Given the description of an element on the screen output the (x, y) to click on. 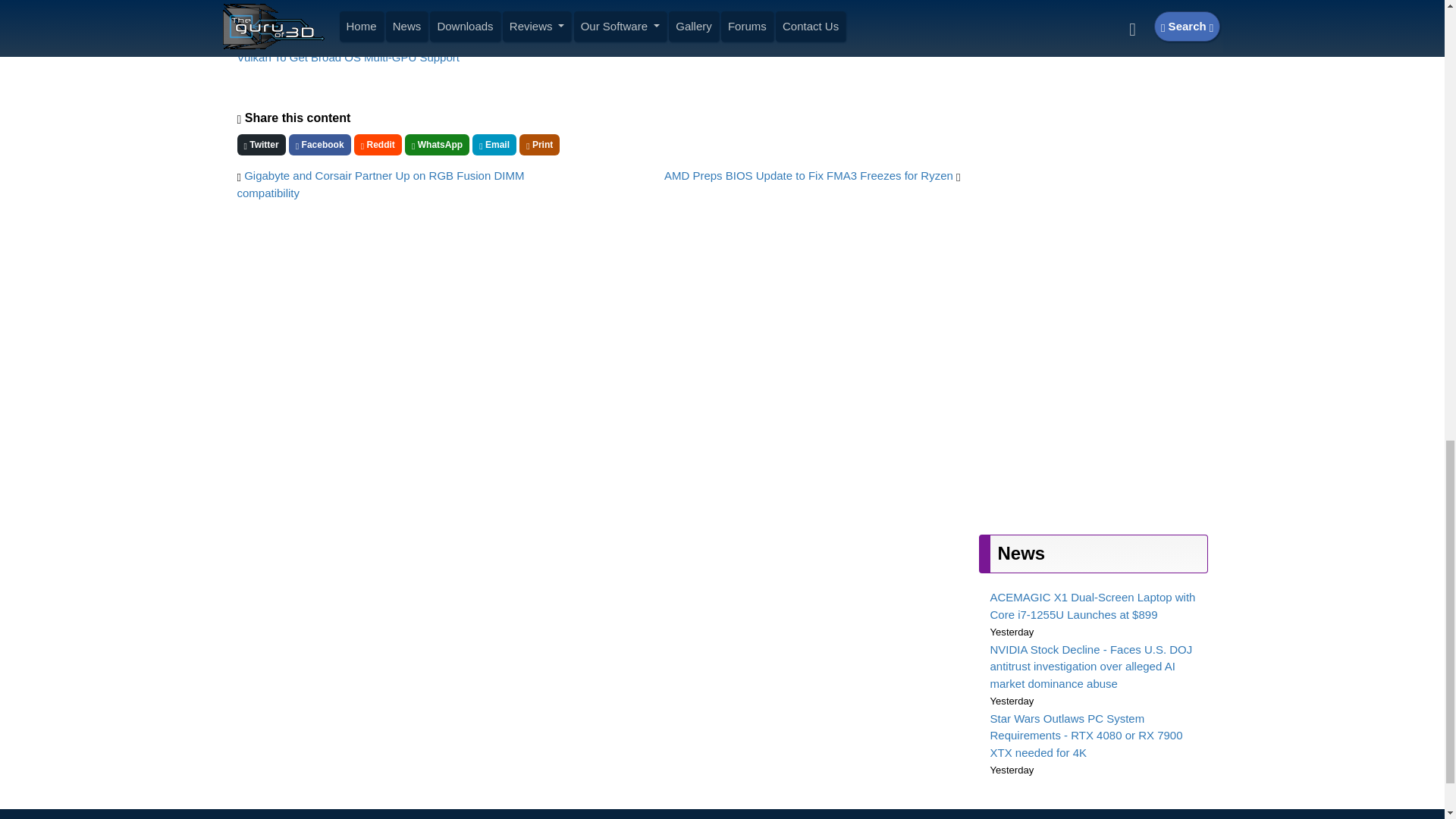
Vulkan To Get Broad OS Multi-GPU Support (346, 56)
Twitter (260, 144)
Facebook (319, 144)
Reddit (377, 144)
